Given the description of an element on the screen output the (x, y) to click on. 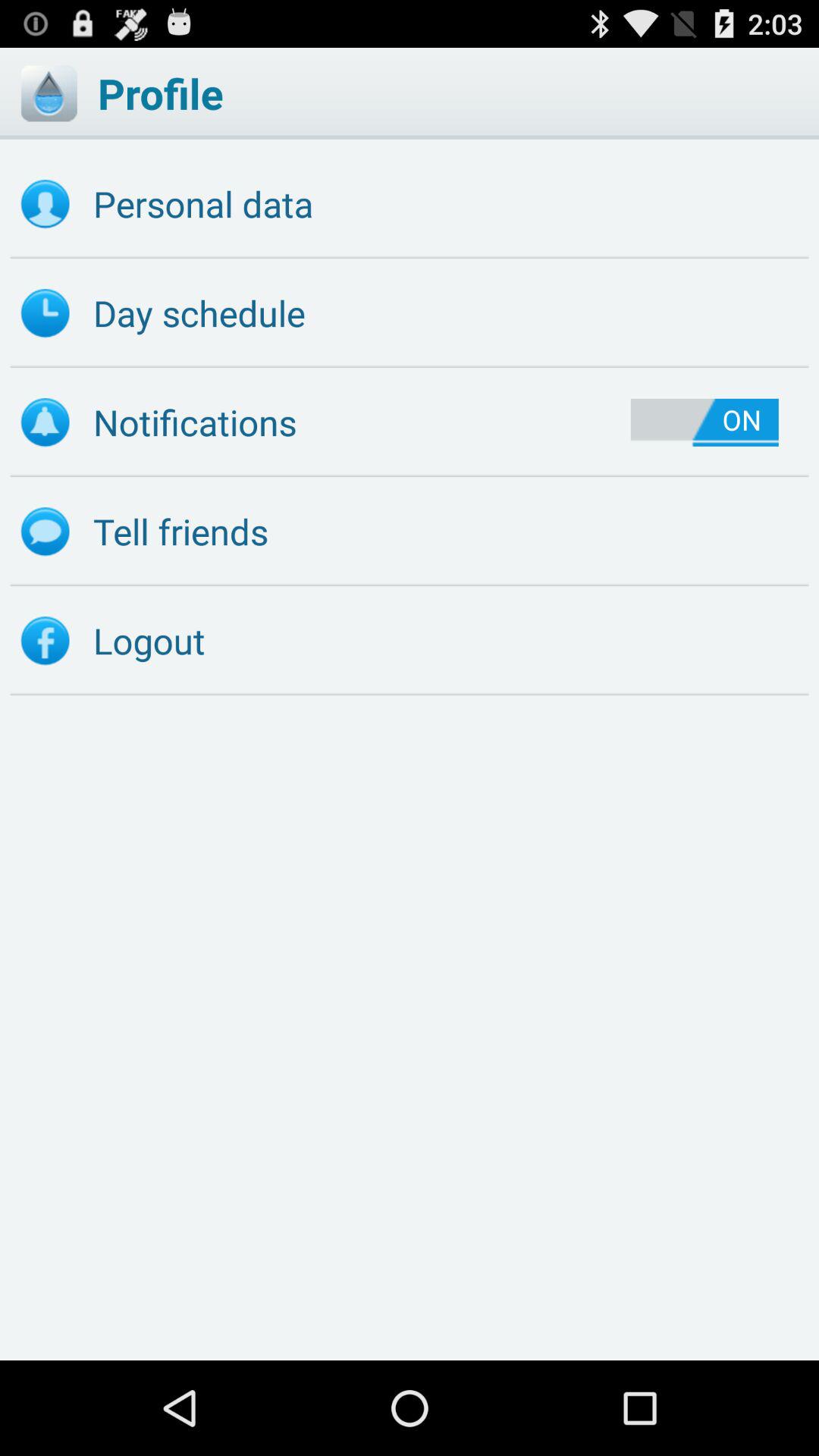
turn off button below personal data button (409, 312)
